Given the description of an element on the screen output the (x, y) to click on. 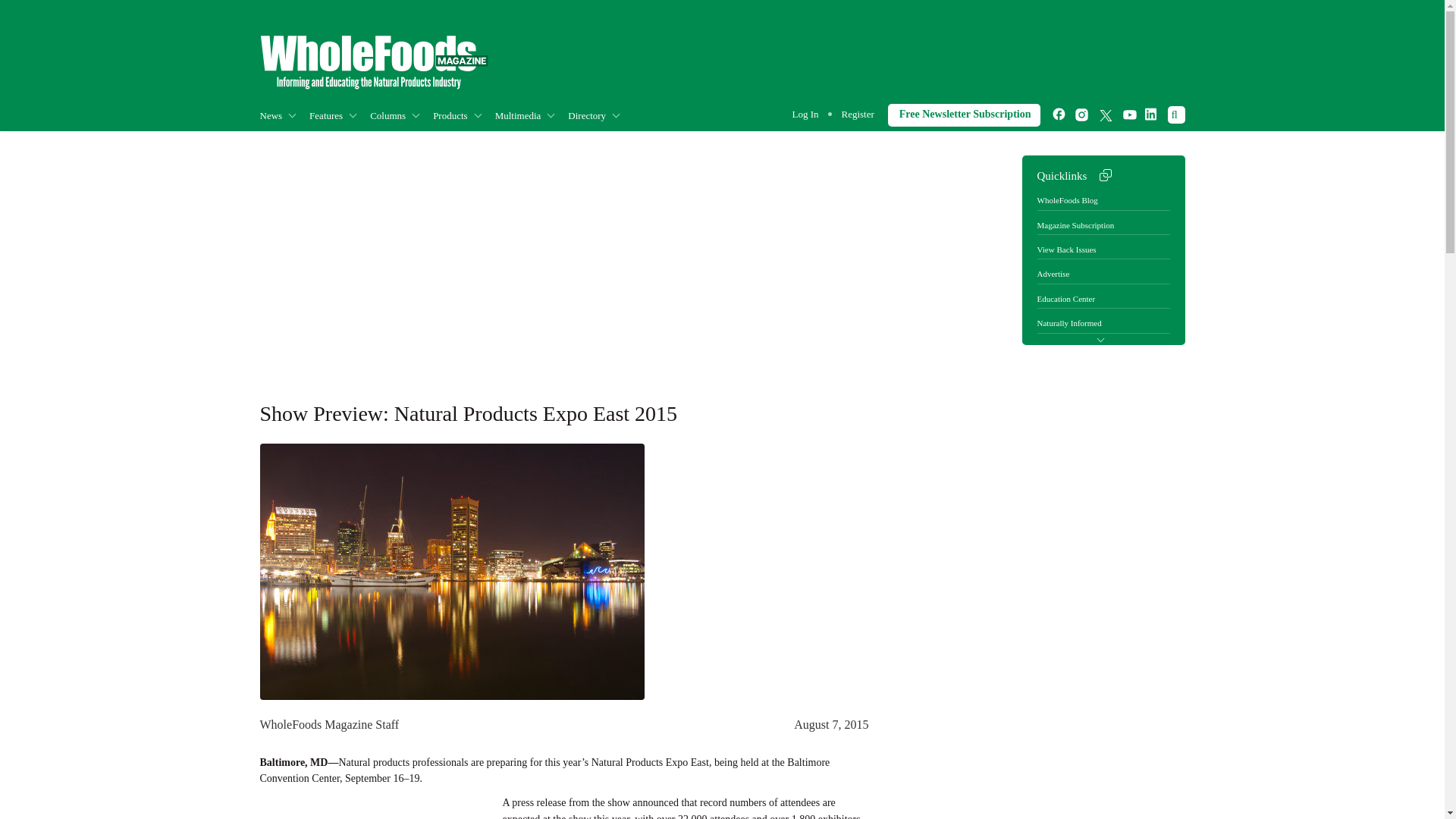
3rd party ad content (908, 58)
Group 2 (373, 62)
3rd party ad content (372, 814)
